Given the description of an element on the screen output the (x, y) to click on. 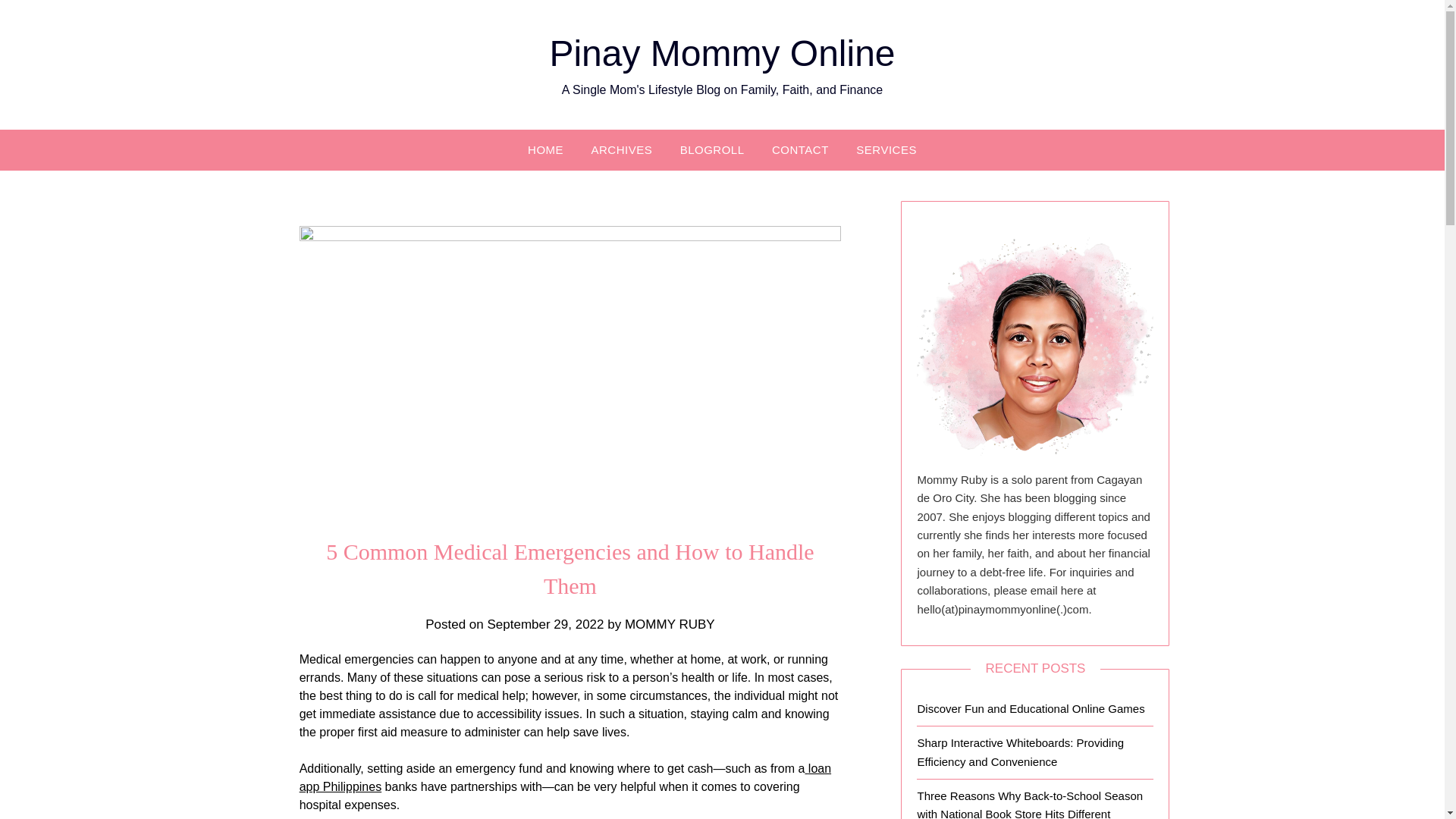
MOMMY RUBY (669, 624)
Discover Fun and Educational Online Games (1030, 707)
September 29, 2022 (545, 624)
BLOGROLL (712, 149)
CONTACT (800, 149)
Pinay Mommy Online (721, 53)
loan app Philippines (565, 777)
ARCHIVES (622, 149)
HOME (545, 149)
